Given the description of an element on the screen output the (x, y) to click on. 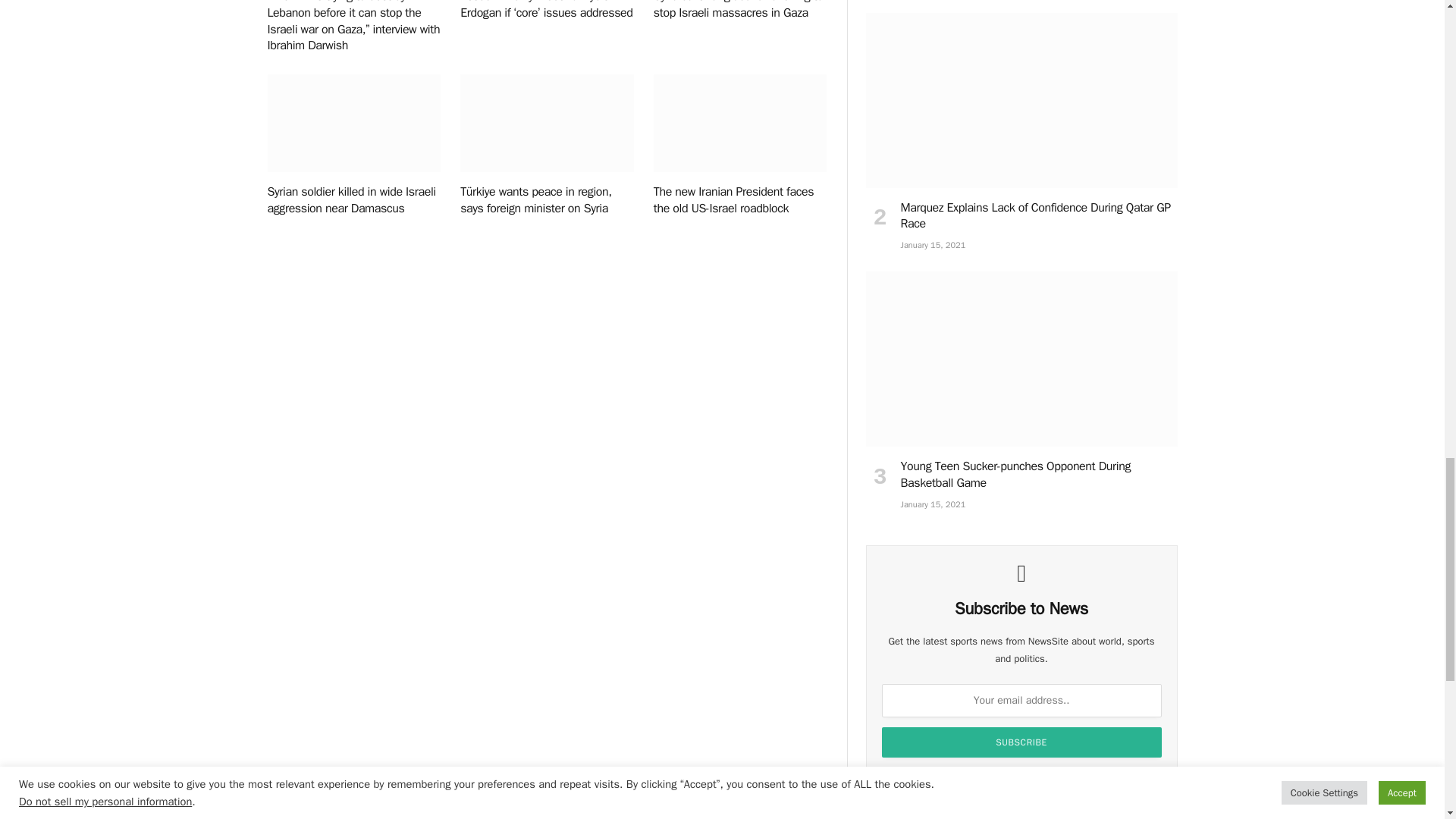
on (898, 779)
Subscribe (1021, 742)
